Given the description of an element on the screen output the (x, y) to click on. 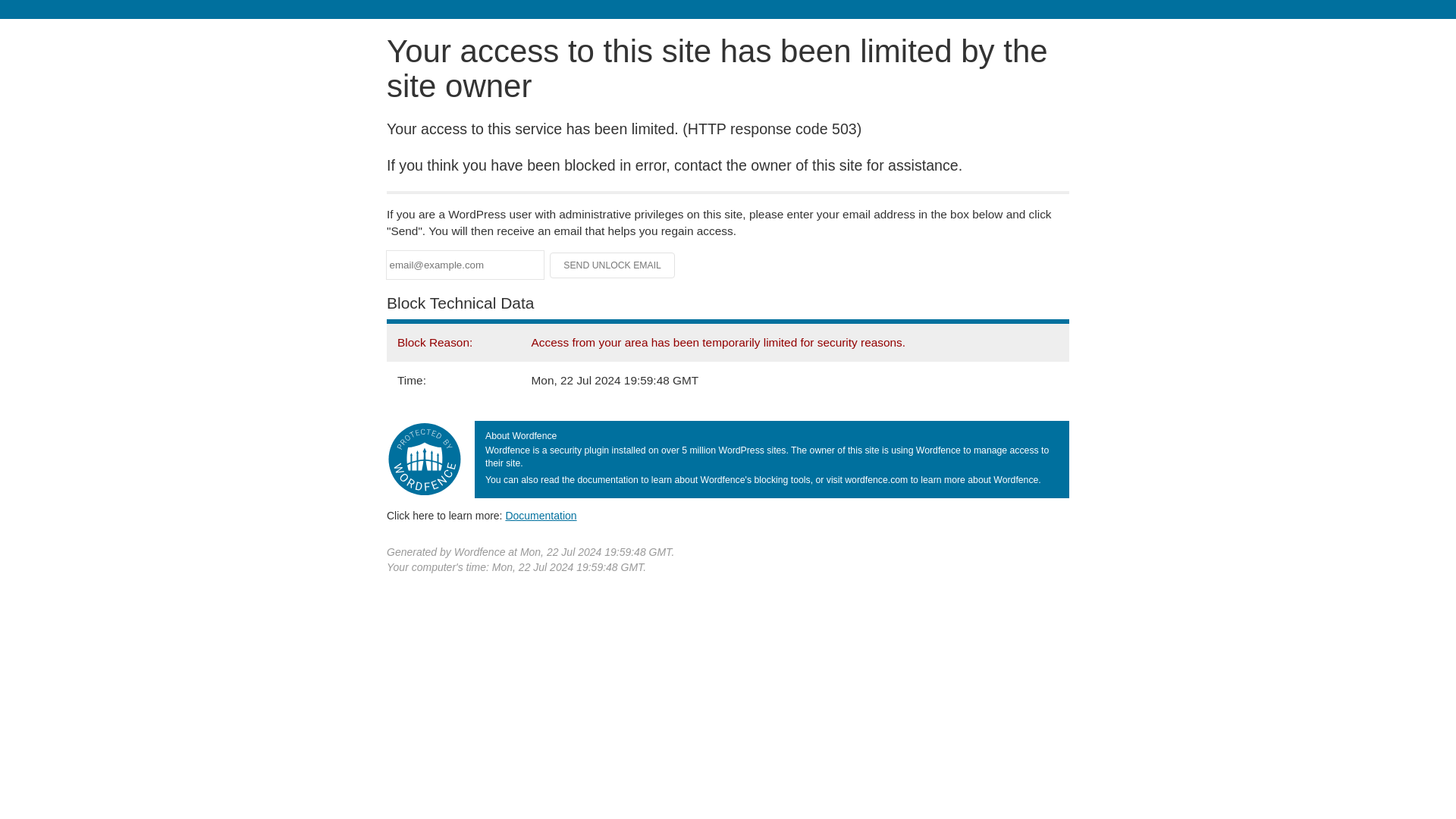
Send Unlock Email (612, 265)
Documentation (540, 515)
Send Unlock Email (612, 265)
